Given the description of an element on the screen output the (x, y) to click on. 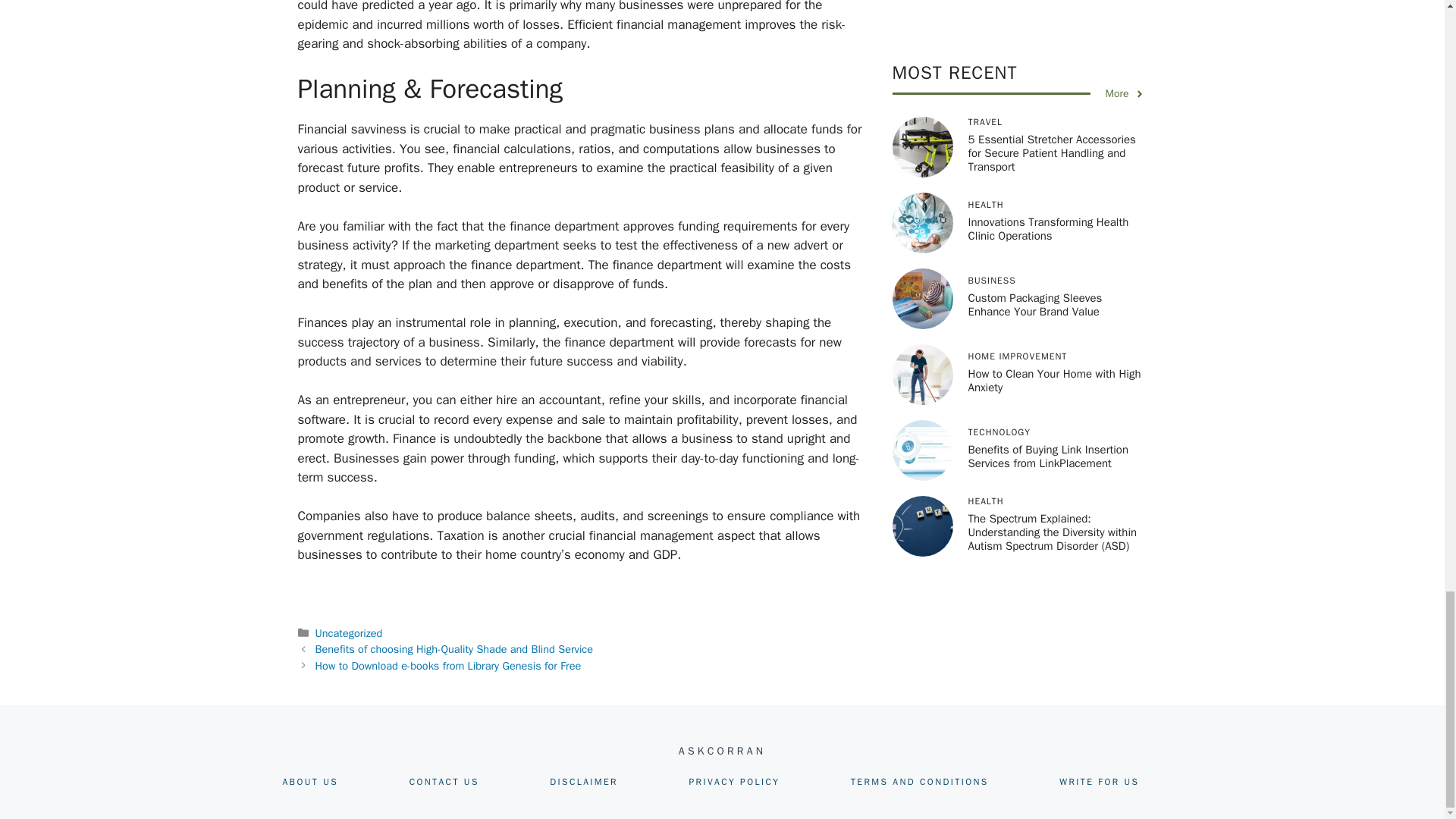
Uncategorized (348, 632)
How to Download e-books from Library Genesis for Free (447, 665)
Benefits of choosing High-Quality Shade and Blind Service (453, 649)
